Given the description of an element on the screen output the (x, y) to click on. 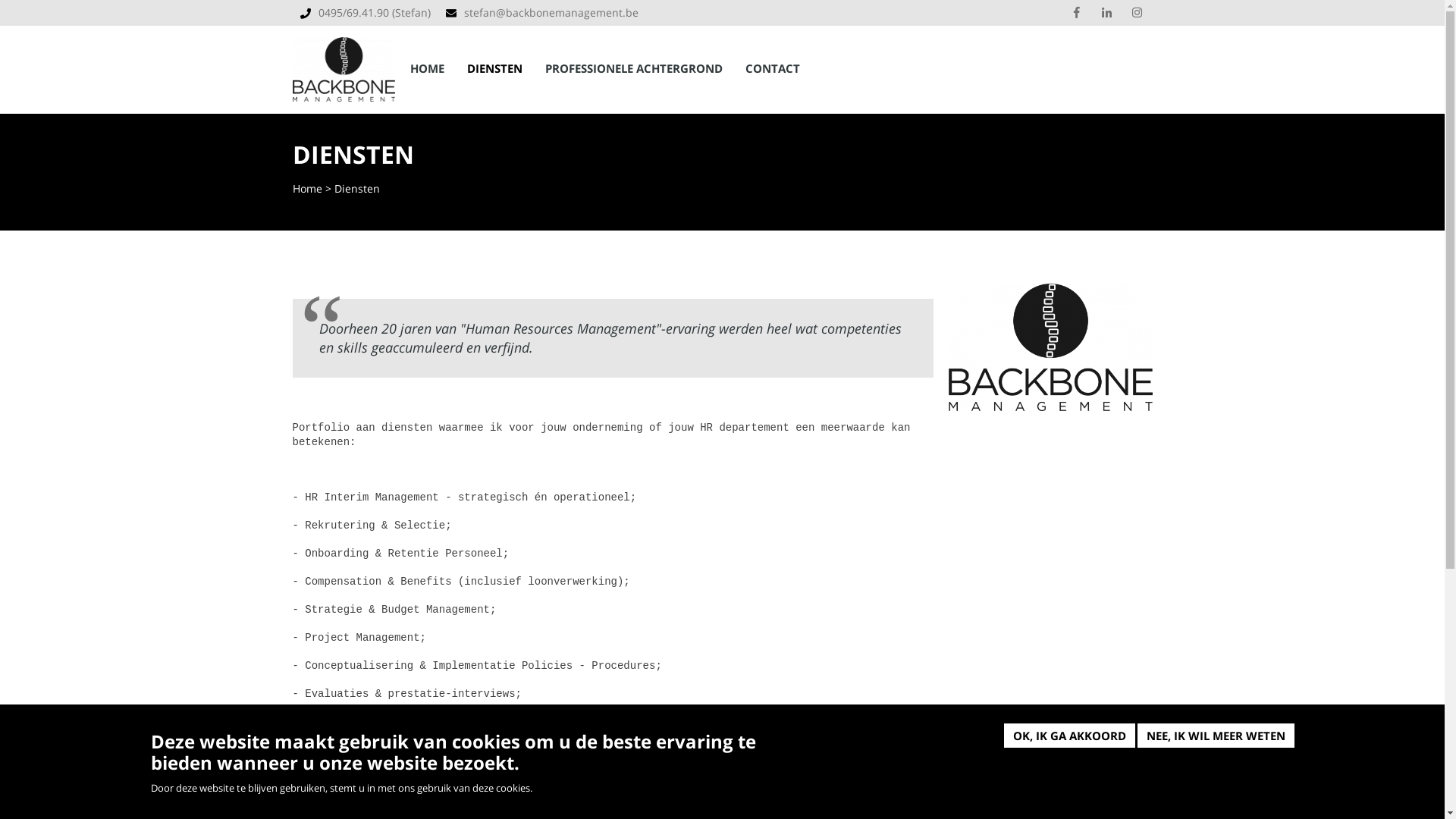
0495/69.41.90 (Stefan) Element type: text (374, 12)
PROFESSIONELE ACHTERGROND Element type: text (633, 68)
HOME Element type: text (426, 68)
CONTACT Element type: text (772, 68)
instagram Element type: text (1136, 12)
linkedin Element type: text (1106, 12)
DIENSTEN Element type: text (494, 68)
Home Element type: hover (343, 63)
Diensten Element type: text (356, 187)
facebook Element type: text (1075, 12)
NEE, IK WIL MEER WETEN Element type: text (1215, 735)
stefan@backbonemanagement.be Element type: text (551, 12)
OK, IK GA AKKOORD Element type: text (1069, 735)
Home Element type: text (307, 187)
